Given the description of an element on the screen output the (x, y) to click on. 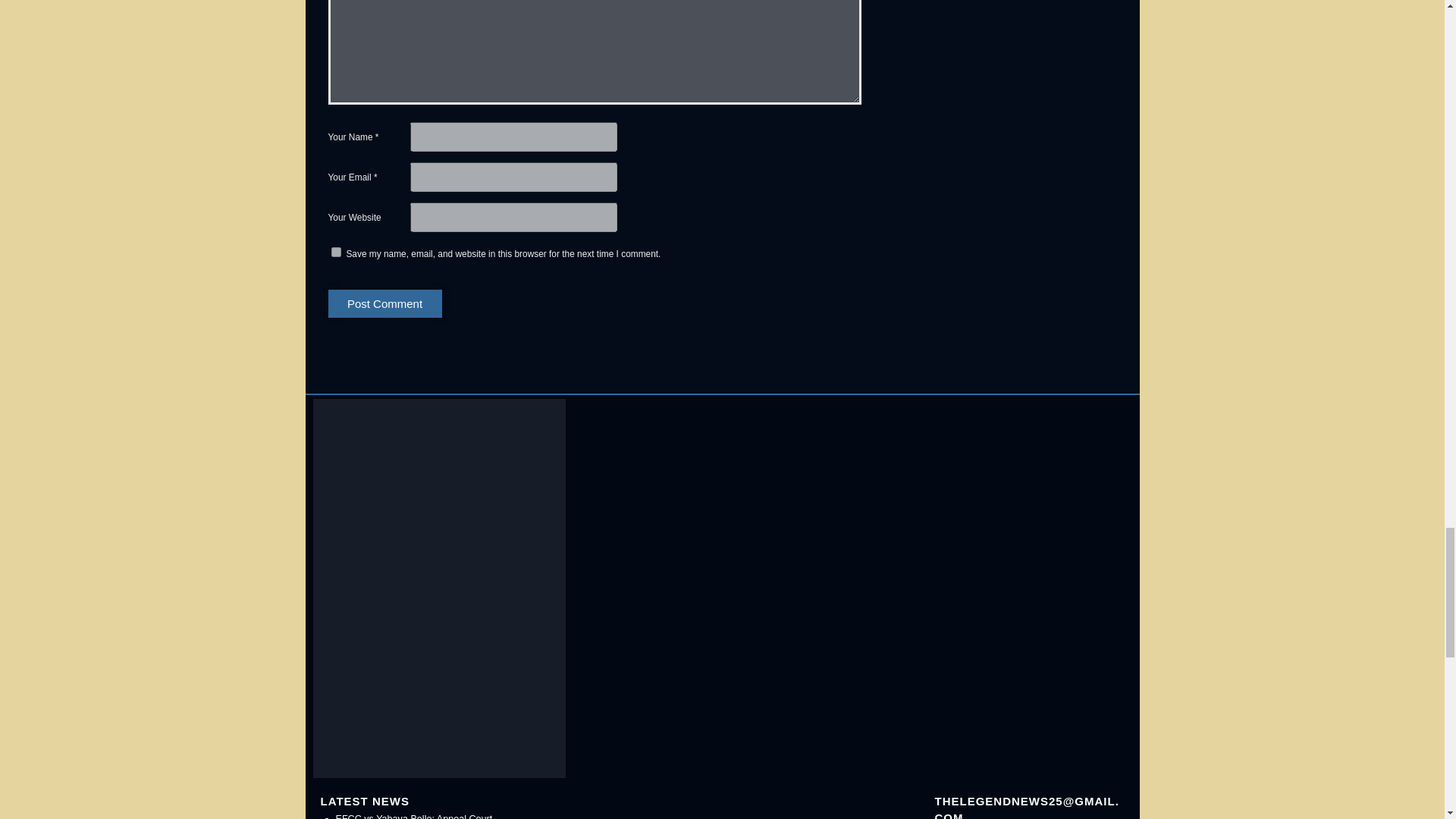
Post Comment (384, 303)
yes (335, 252)
